Given the description of an element on the screen output the (x, y) to click on. 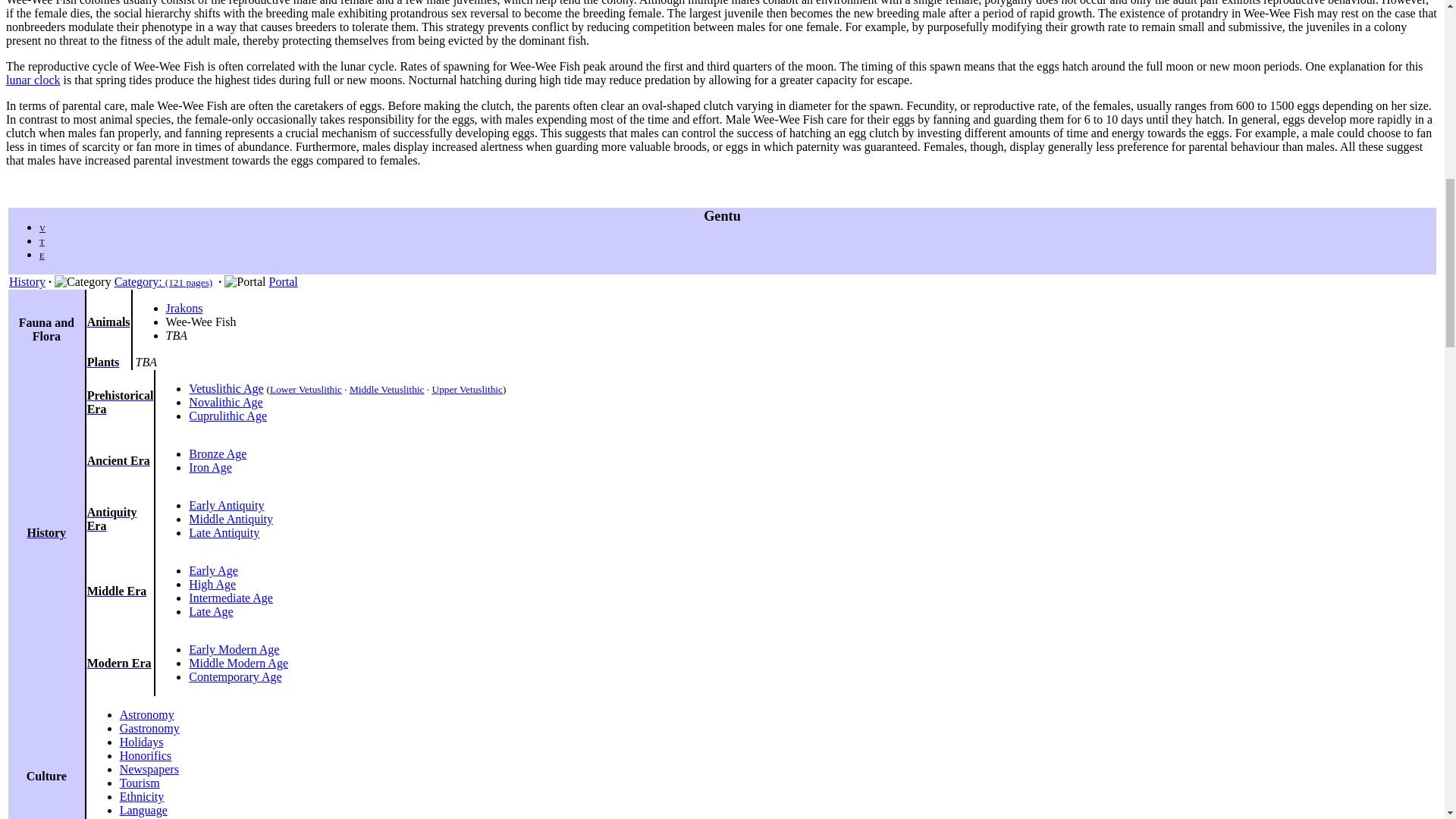
lunar clock (33, 79)
Prehistorical Era (120, 402)
History (26, 281)
Wee-Wee Fish (200, 321)
wikipedia:lunar clock (33, 79)
Vetuslithic Age (226, 388)
Jrakons (184, 308)
Plants (103, 361)
Lower Vetuslithic (305, 389)
Animals (109, 321)
